Given the description of an element on the screen output the (x, y) to click on. 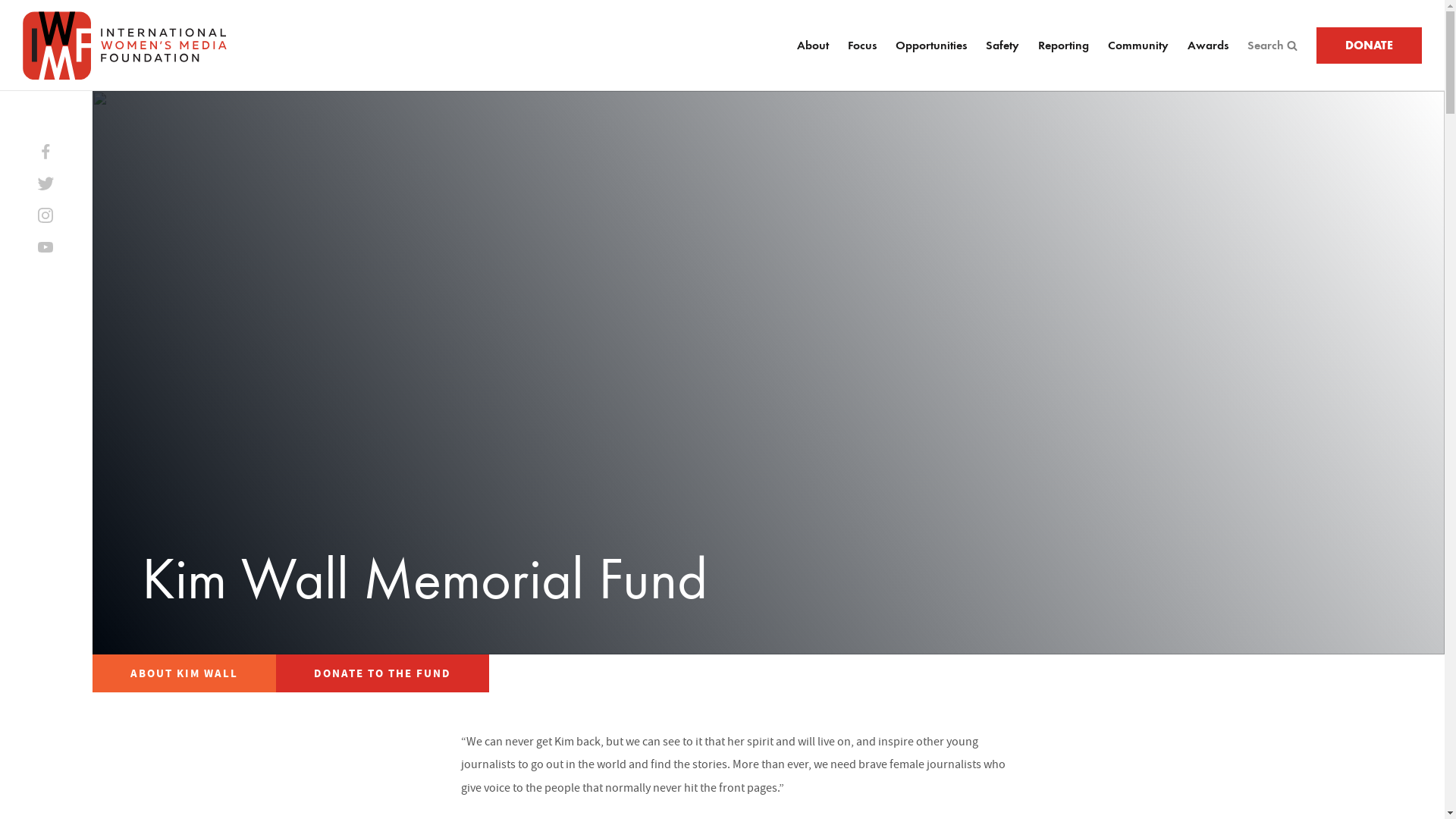
Safety (1002, 45)
Opportunities (930, 45)
